Given the description of an element on the screen output the (x, y) to click on. 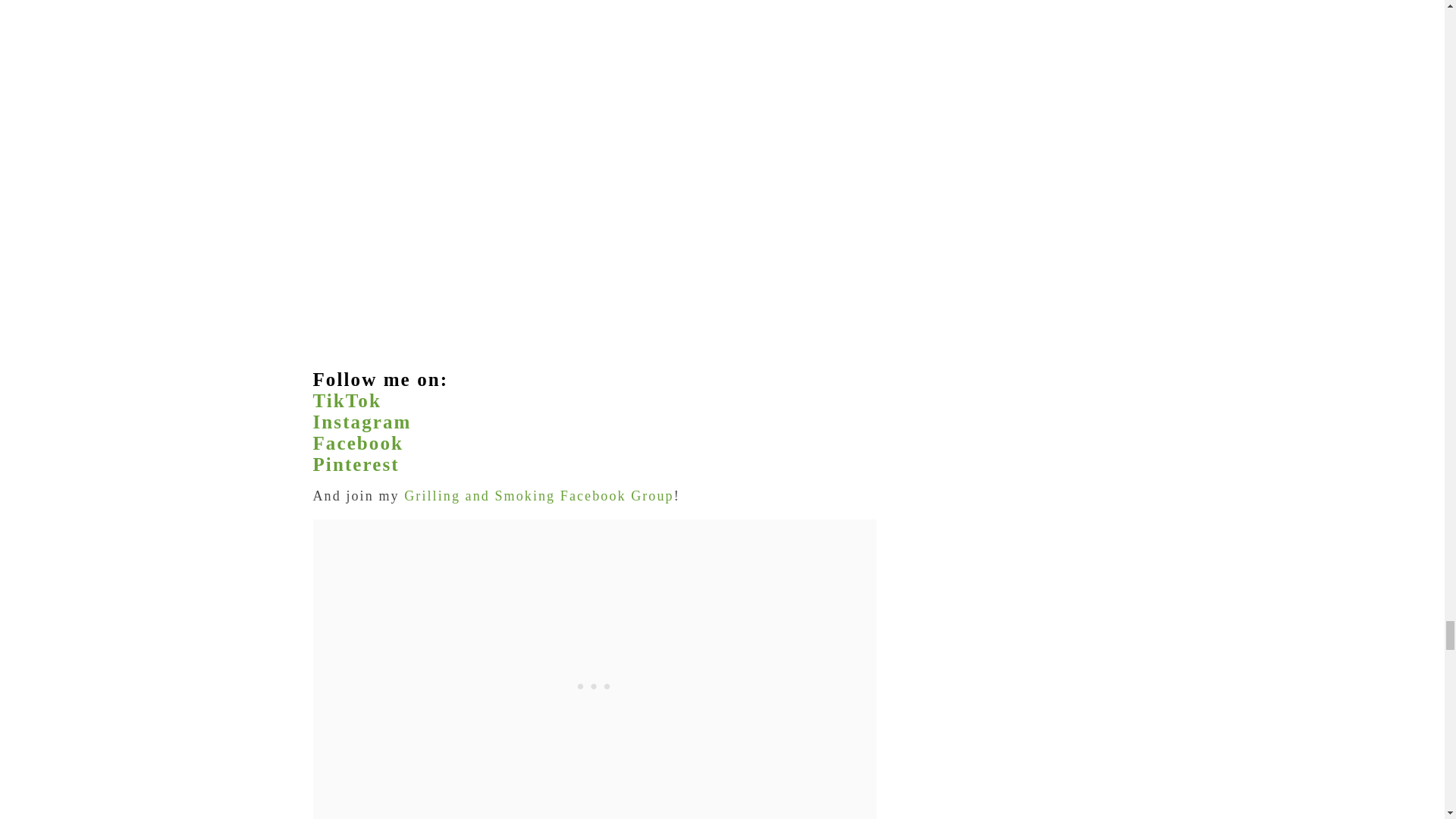
Instagram (361, 421)
Facebook (358, 443)
Pinterest (355, 464)
TikTok (346, 400)
Grilling and Smoking Facebook Group (538, 495)
